Given the description of an element on the screen output the (x, y) to click on. 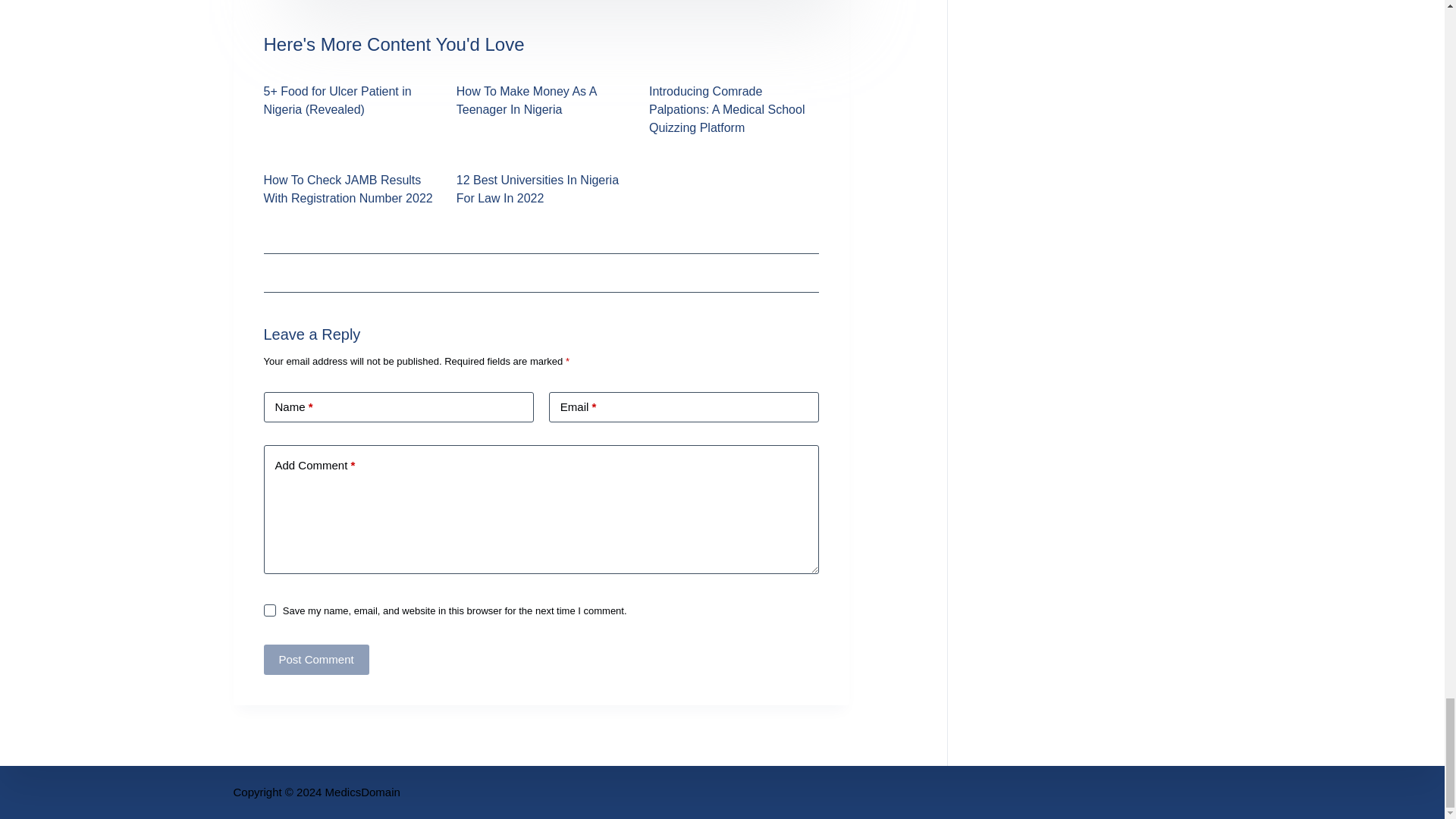
yes (269, 610)
